Given the description of an element on the screen output the (x, y) to click on. 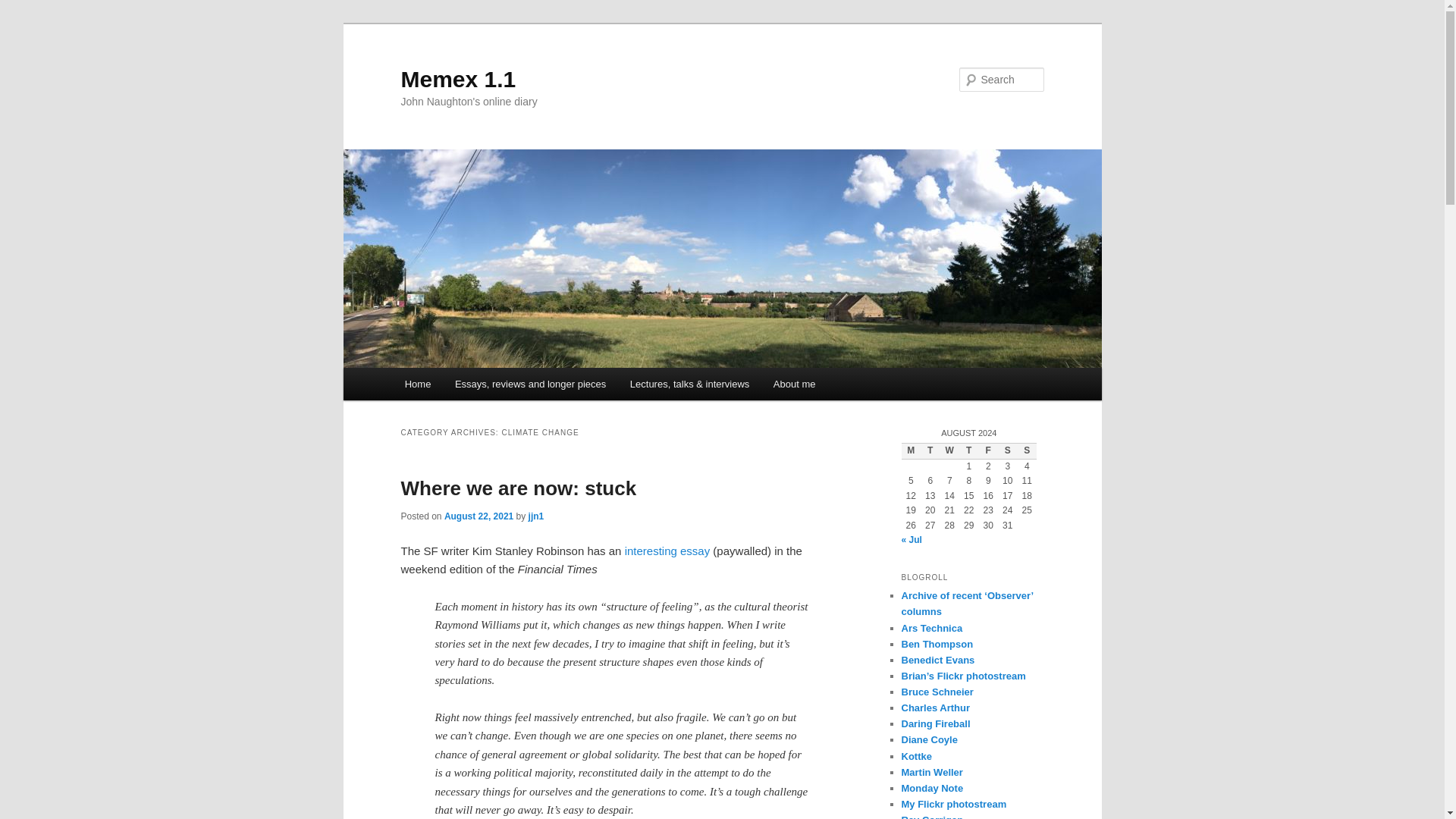
About me (794, 383)
interesting essay (667, 550)
Home (417, 383)
An archive of recent Observer columns (966, 603)
Essays, reviews and longer pieces (529, 383)
Friday (987, 451)
Search (24, 8)
Charles Arthur (935, 707)
Where we are now: stuck (518, 487)
Monday (910, 451)
Ars Technica (931, 627)
Bruce Schneier (936, 691)
August 22, 2021 (478, 516)
Tuesday (930, 451)
Sunday (1026, 451)
